Given the description of an element on the screen output the (x, y) to click on. 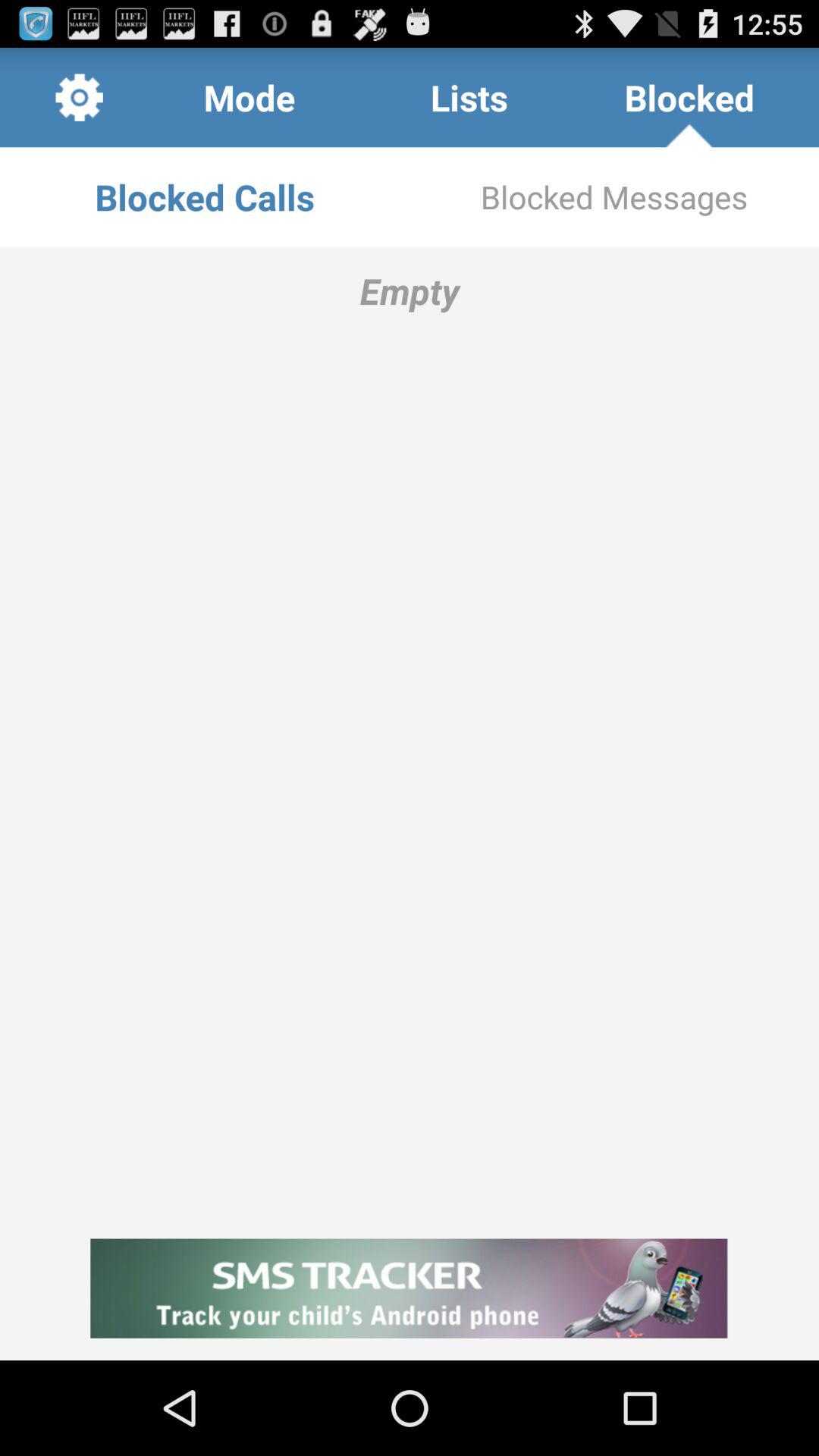
click the icon above blocked calls item (79, 97)
